Given the description of an element on the screen output the (x, y) to click on. 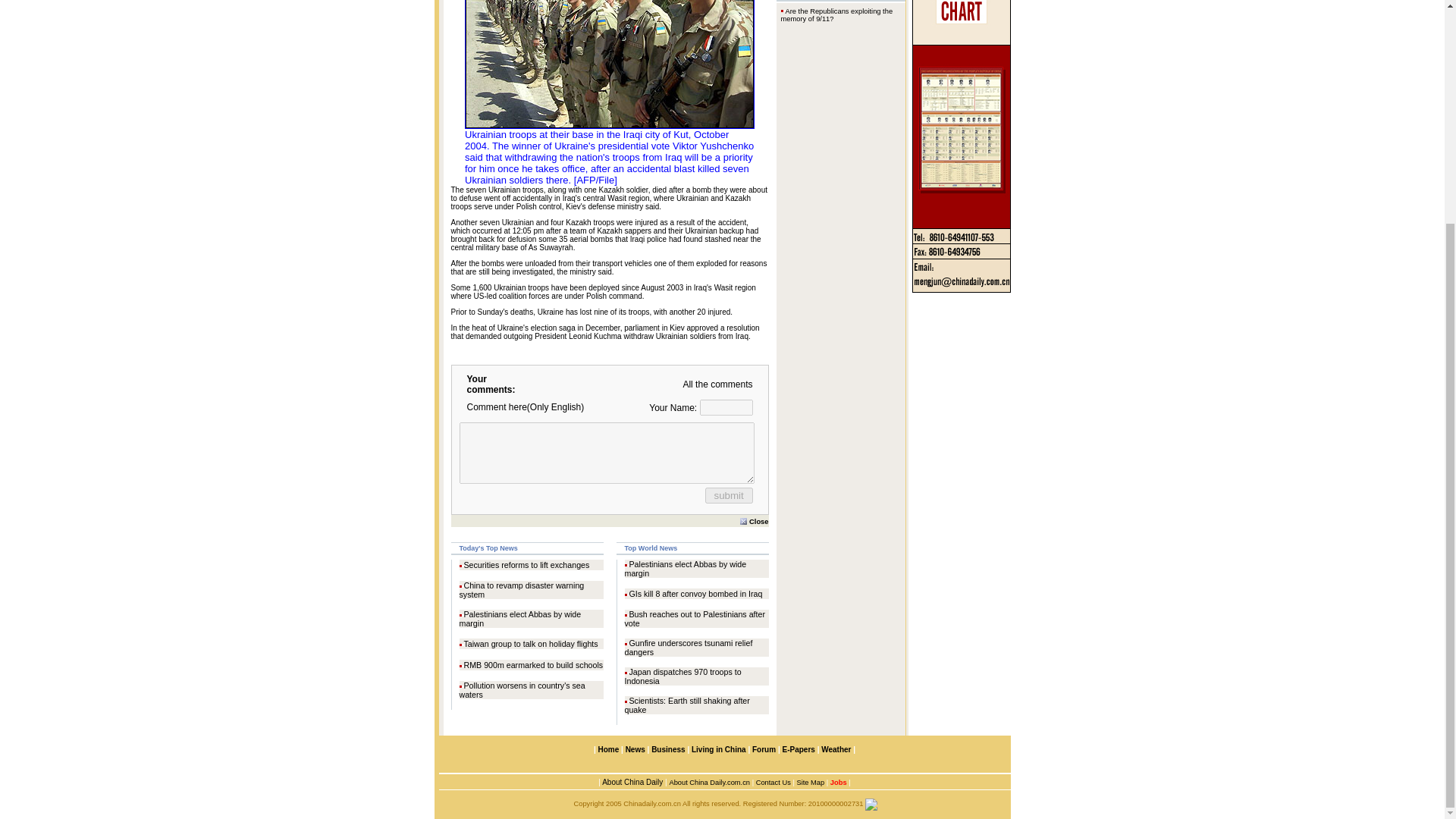
Palestinians elect Abbas by wide margin (685, 568)
 submit  (728, 495)
 submit  (728, 495)
Taiwan group to talk on holiday flights (531, 643)
Living in China (718, 749)
About China Daily.com.cn (708, 782)
China to revamp disaster warning system (522, 589)
Weather (834, 749)
Gunfire underscores tsunami relief dangers (688, 647)
E-Papers (797, 749)
Scientists: Earth still shaking after quake (686, 705)
Contact Us (772, 782)
Palestinians elect Abbas by wide margin (520, 618)
All the comments (717, 384)
Japan dispatches 970 troops to Indonesia (682, 676)
